Given the description of an element on the screen output the (x, y) to click on. 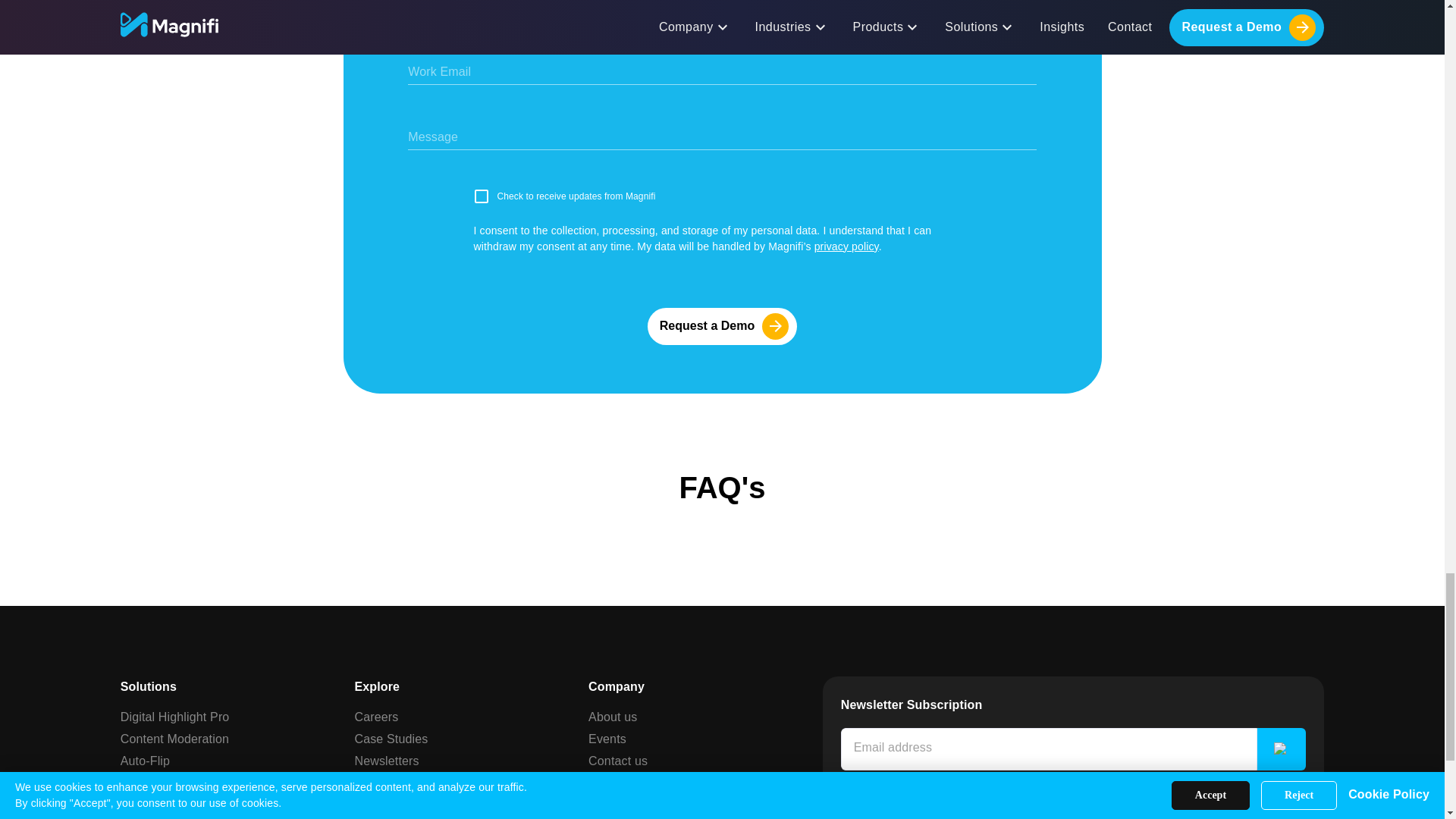
Reely (136, 803)
Web Stories (153, 782)
Events (607, 738)
Careers (375, 716)
Auto-Flip (145, 759)
Content Moderation (174, 738)
Case Studies (390, 738)
Webinar (610, 782)
Request a Demo (721, 325)
Contact us (617, 759)
